Given the description of an element on the screen output the (x, y) to click on. 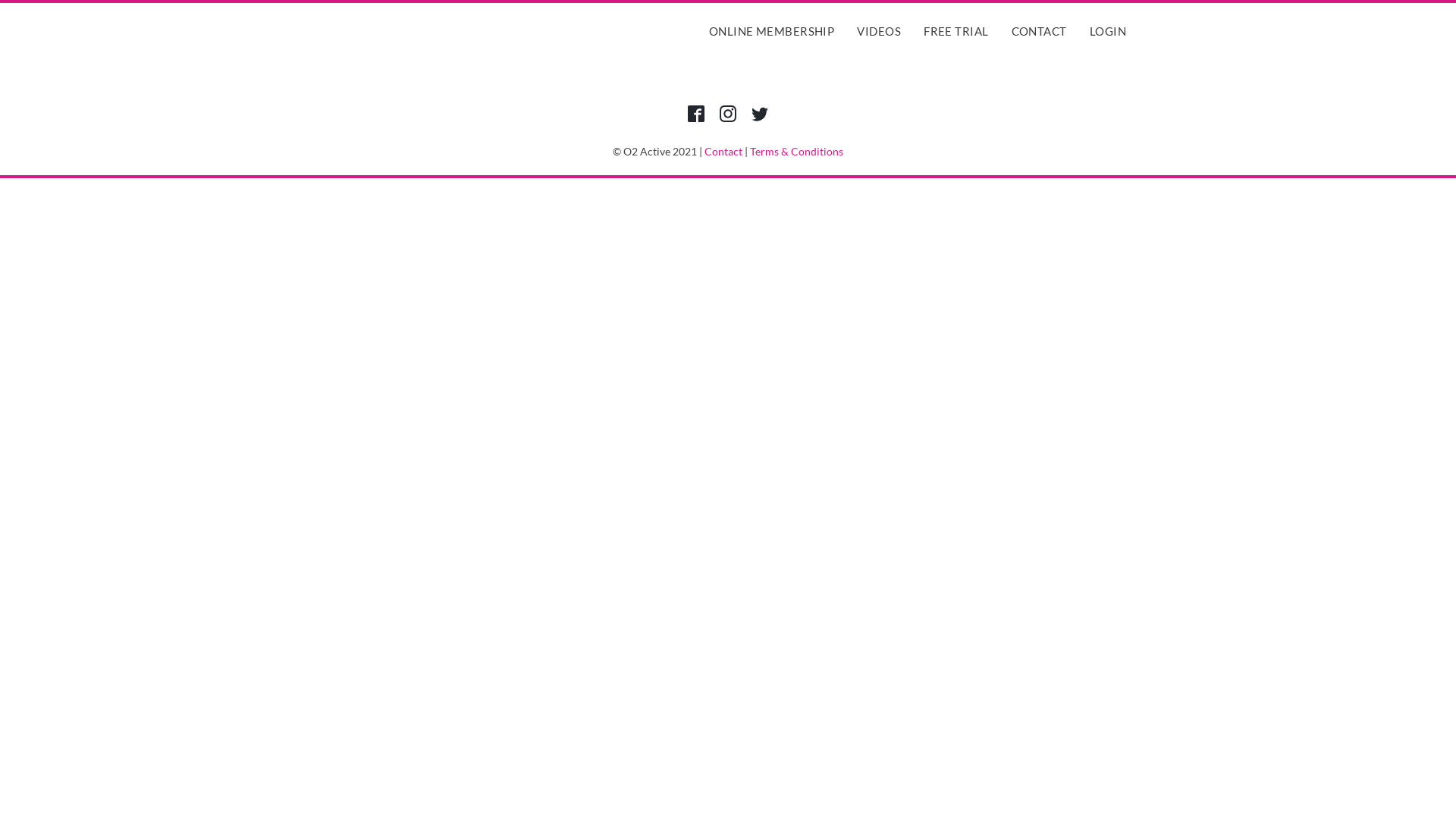
Terms & Conditions Element type: text (796, 150)
VIDEOS Element type: text (878, 31)
CONTACT Element type: text (1038, 31)
Contact Element type: text (723, 150)
ONLINE MEMBERSHIP Element type: text (771, 31)
FREE TRIAL Element type: text (955, 31)
LOGIN Element type: text (1107, 31)
